Given the description of an element on the screen output the (x, y) to click on. 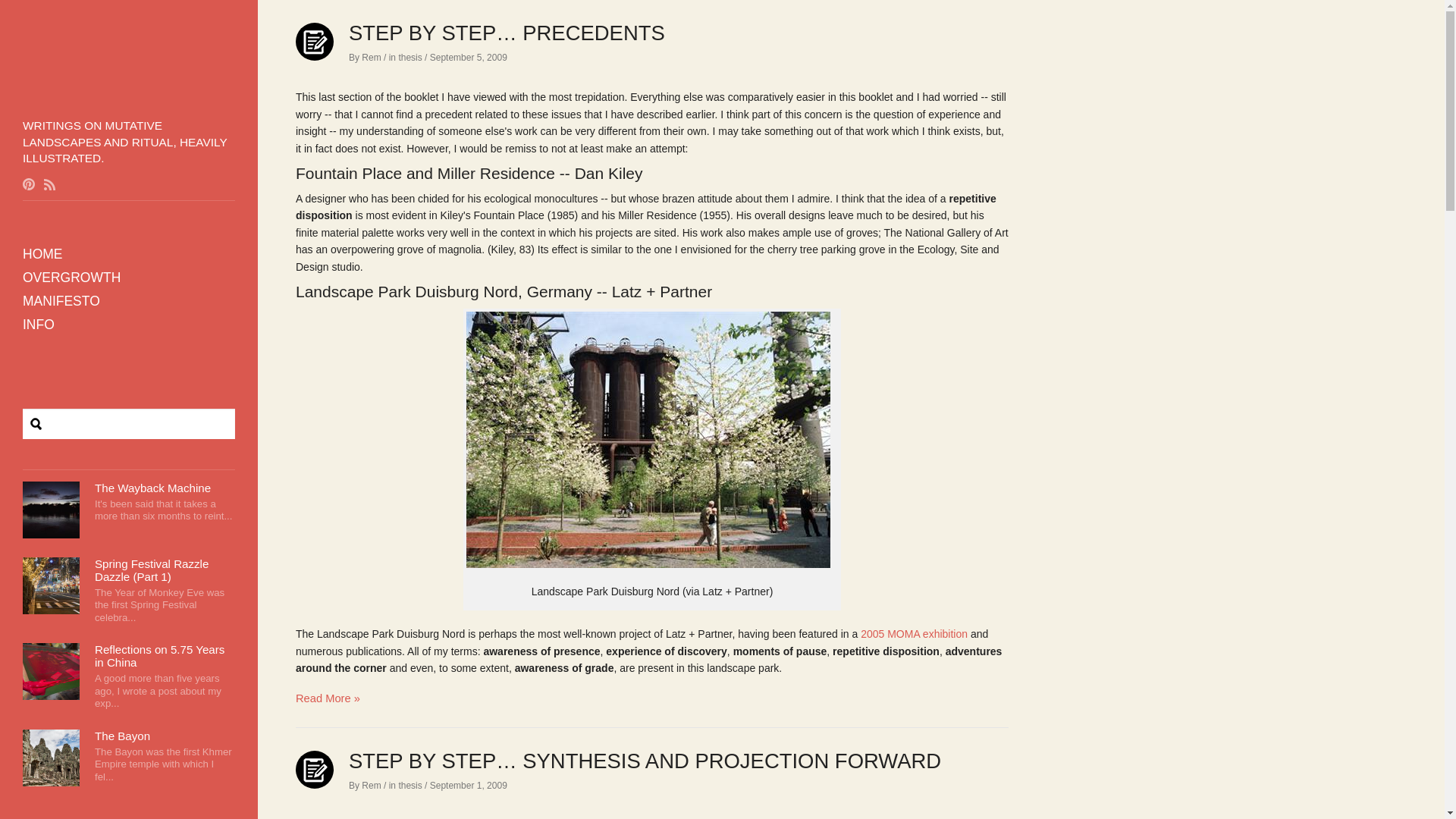
HOME (37, 254)
The Wayback Machine (152, 487)
The Bayon (121, 735)
OVERGROWTH (66, 277)
MANIFESTO (56, 301)
INFO (32, 324)
MutationMatter (128, 95)
The Wayback Machine (152, 487)
Search (30, 15)
MutationMatter (128, 95)
The Bayon (121, 735)
Reflections on 5.75 Years in China (159, 655)
Reflections on 5.75 Years in China (159, 655)
